Given the description of an element on the screen output the (x, y) to click on. 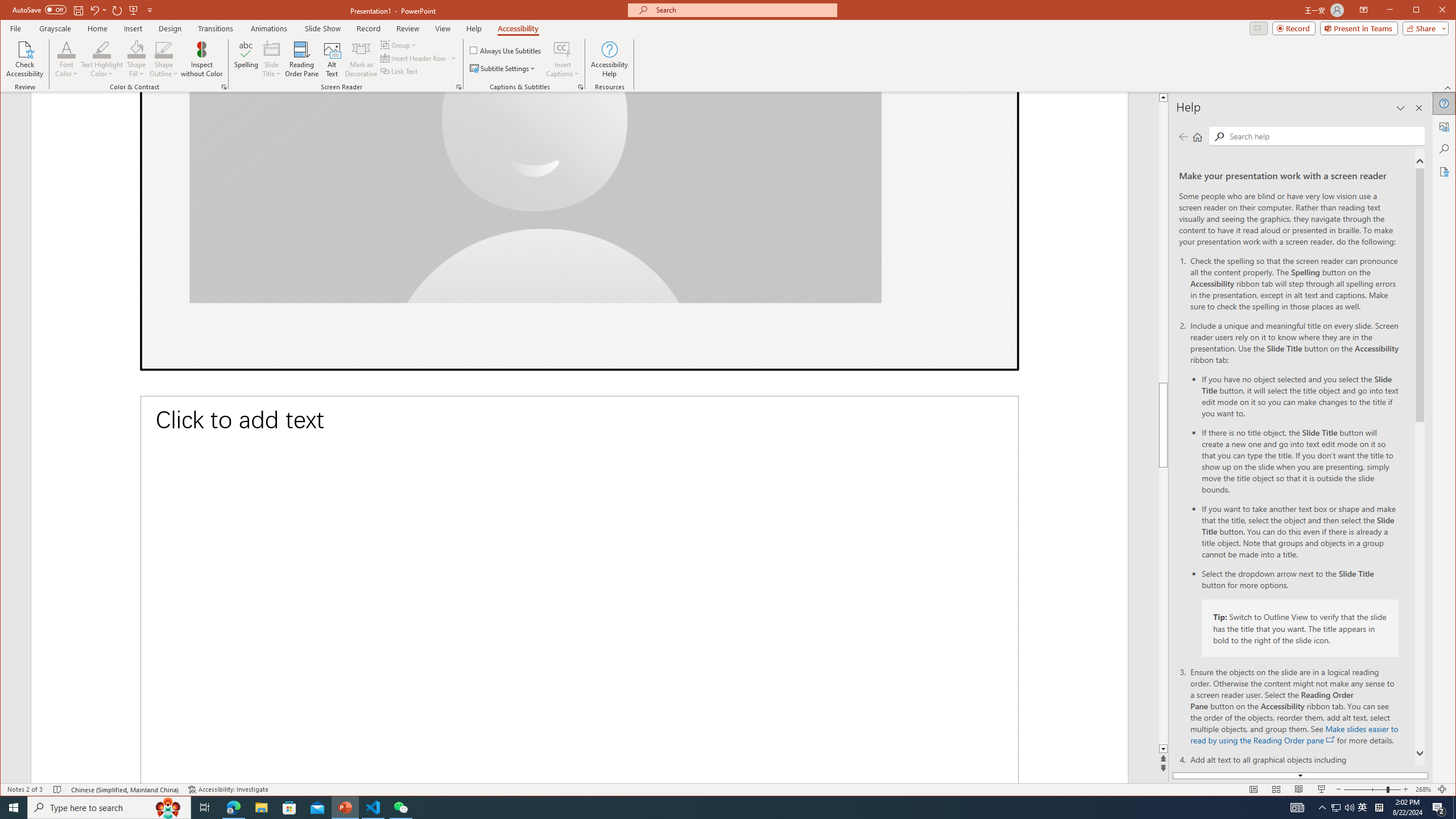
Captions & Subtitles (580, 86)
Reading Order Pane (301, 59)
Previous page (1183, 136)
